Given the description of an element on the screen output the (x, y) to click on. 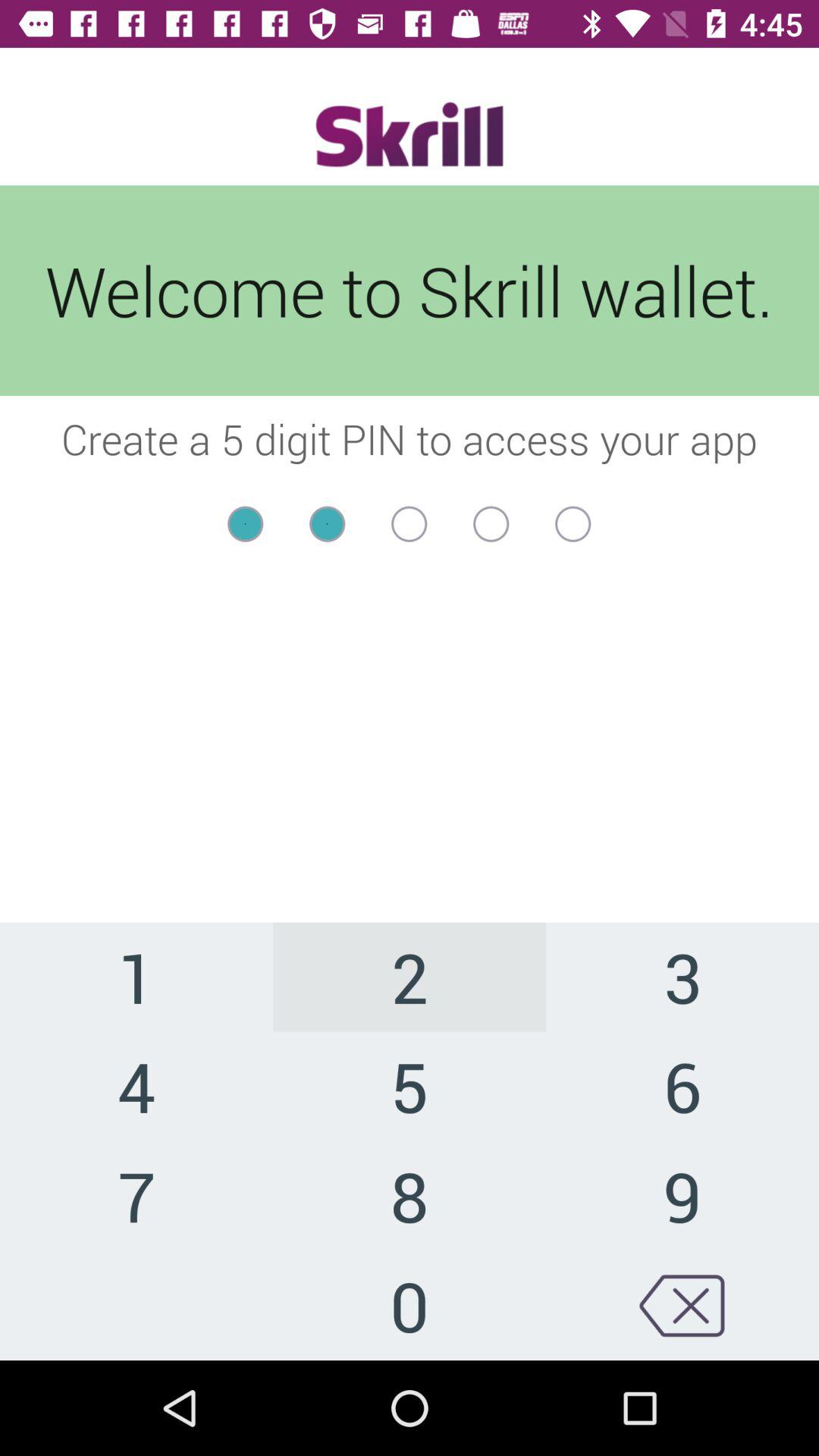
3rd digit of your pin (409, 524)
